Given the description of an element on the screen output the (x, y) to click on. 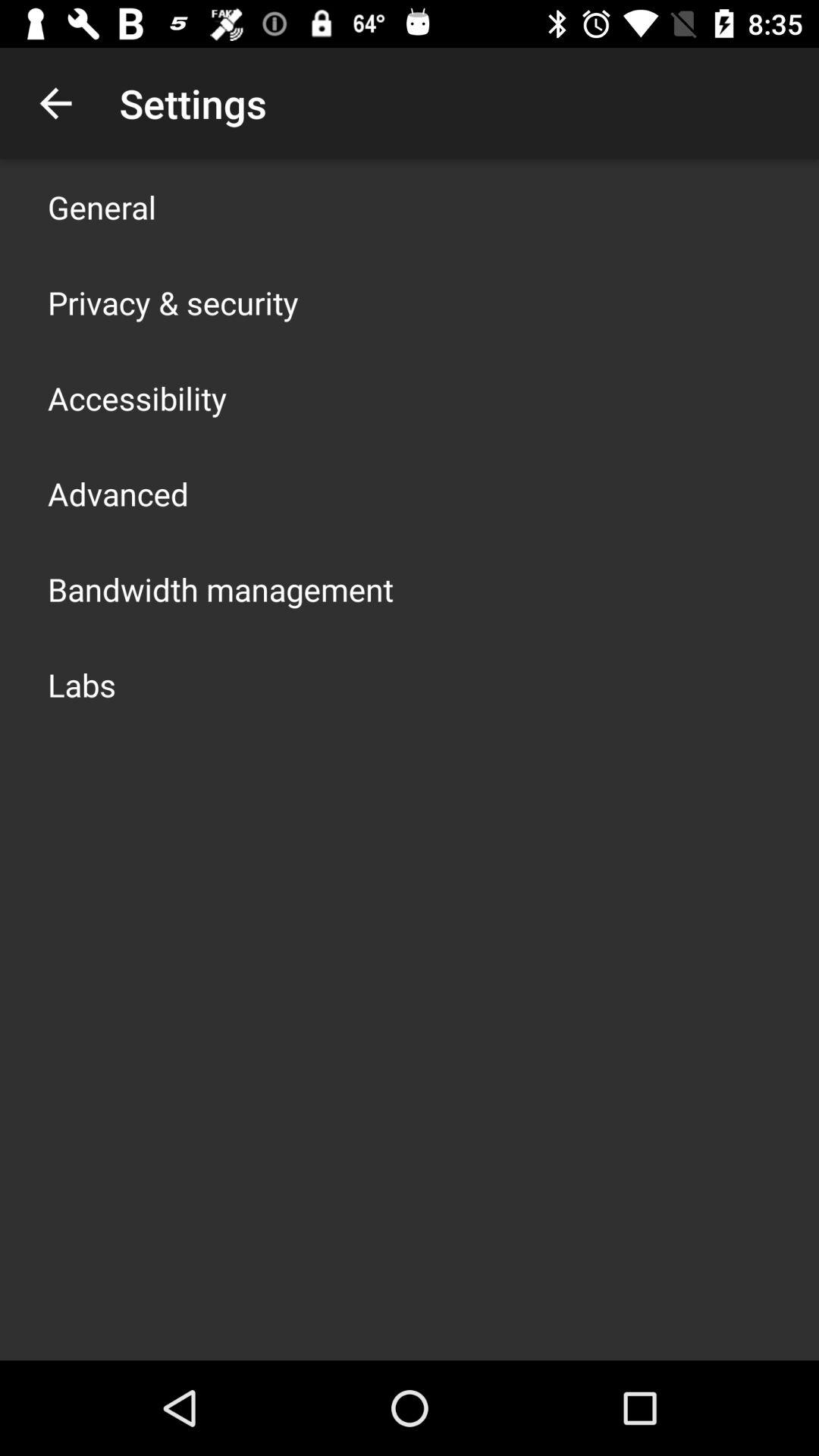
turn on the advanced icon (117, 493)
